Given the description of an element on the screen output the (x, y) to click on. 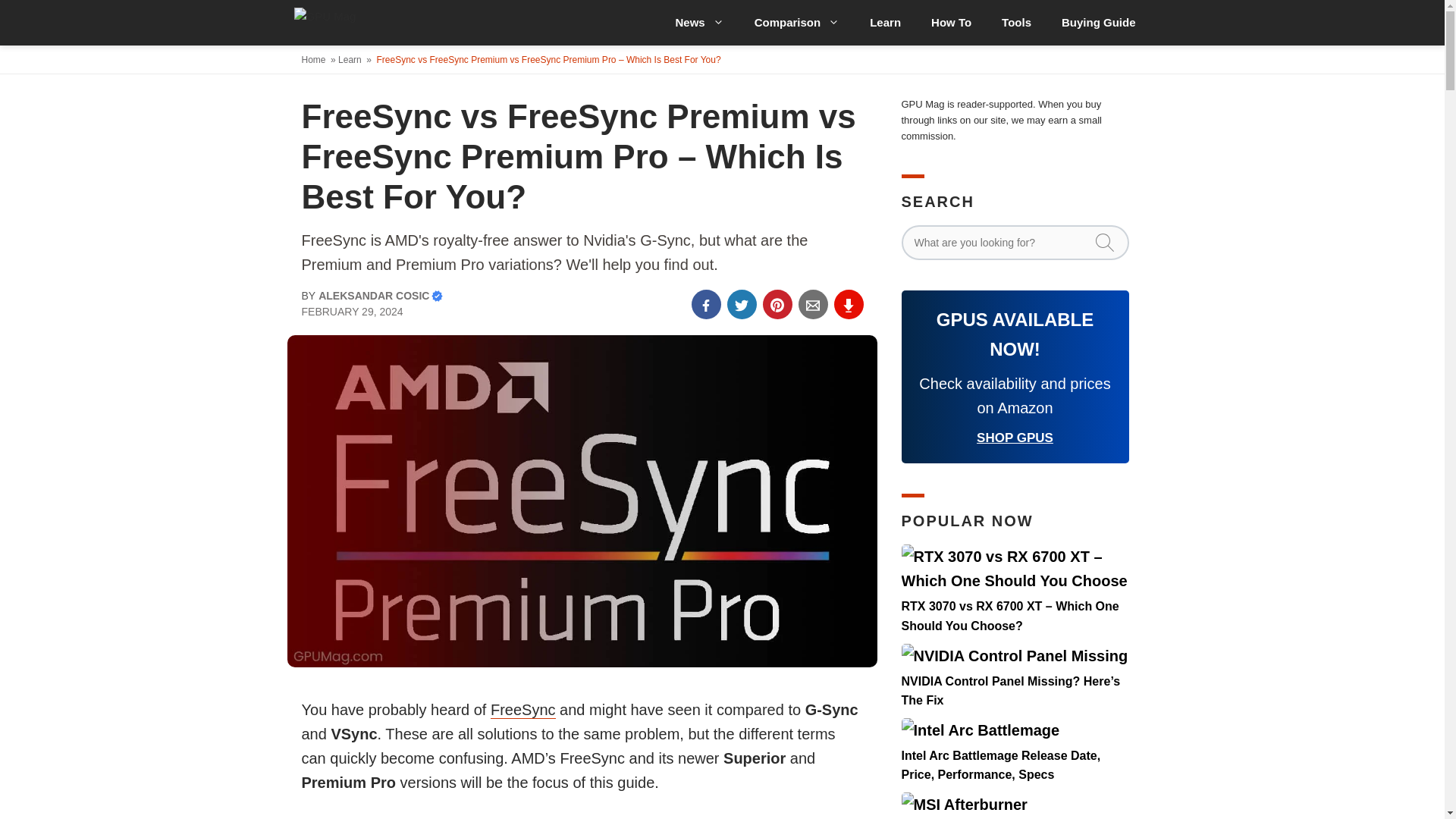
Tools (1016, 22)
Home (315, 59)
Comparison (797, 22)
Download PDF (848, 304)
Buying Guide (1098, 22)
Search for: (1014, 242)
GPU Mag (376, 22)
Learn (350, 59)
Learn (884, 22)
How To (951, 22)
